Given the description of an element on the screen output the (x, y) to click on. 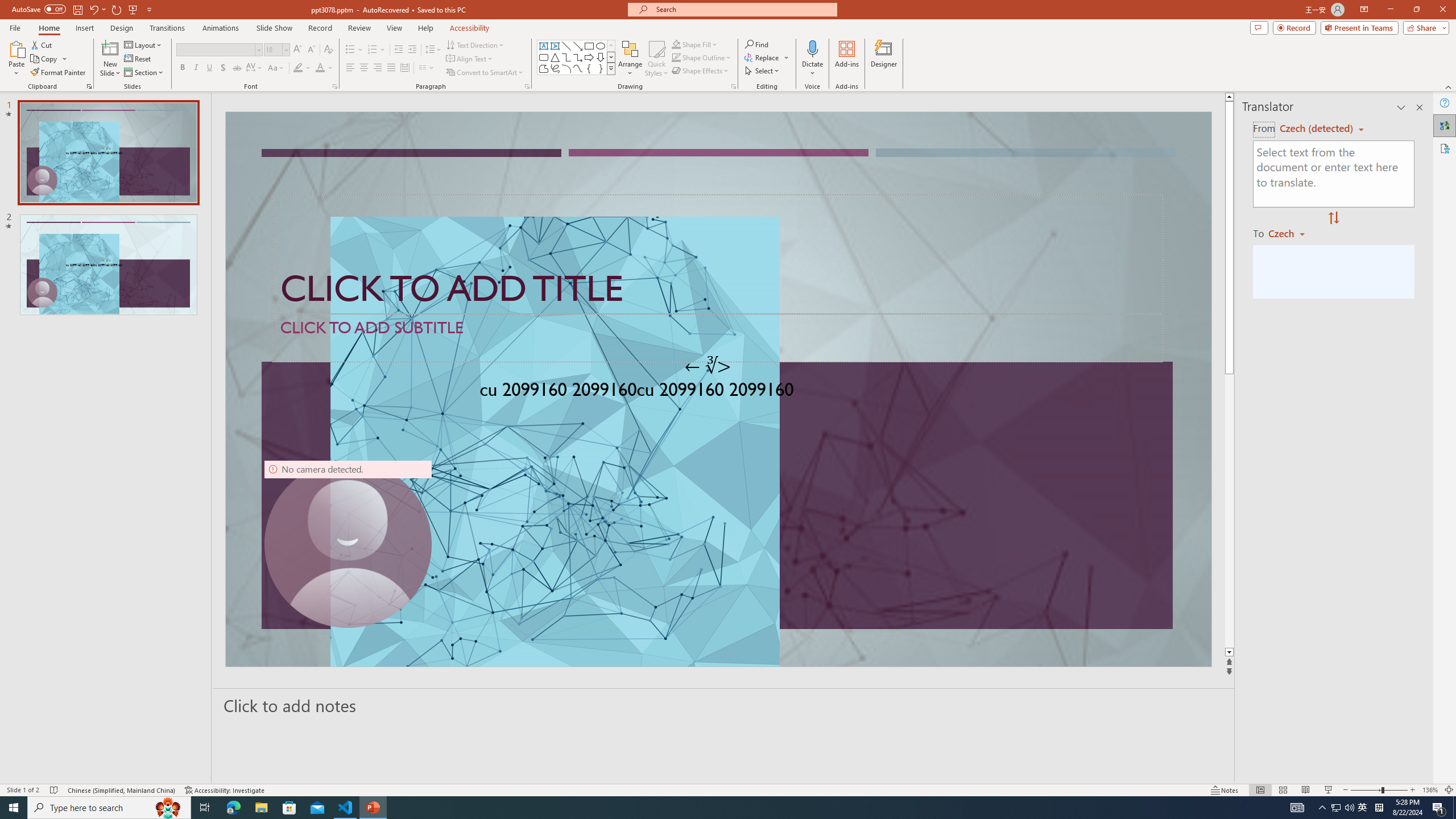
Shape Fill Dark Green, Accent 2 (675, 44)
